Given the description of an element on the screen output the (x, y) to click on. 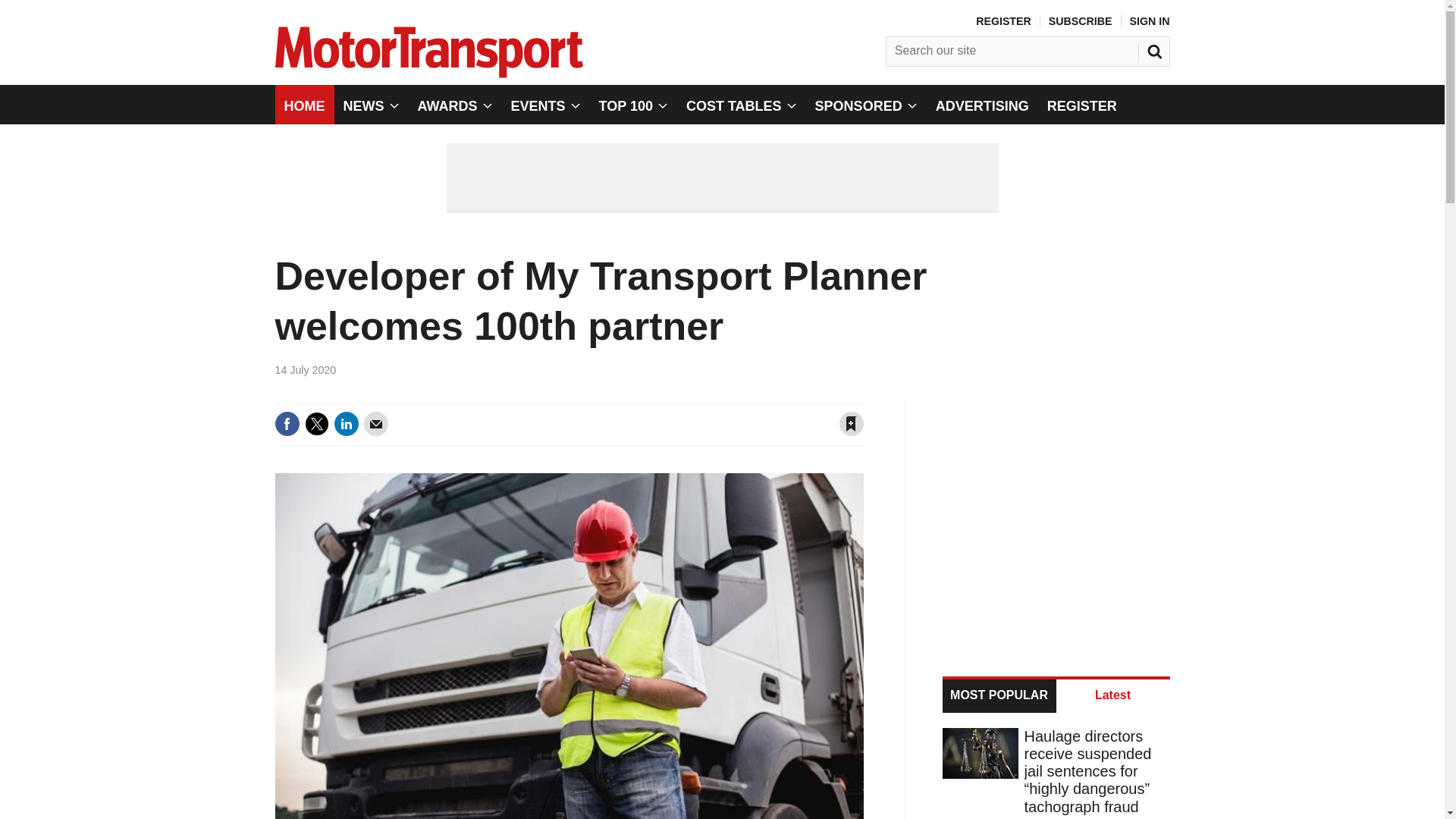
Share this on Linked in (345, 422)
3rd party ad content (1056, 520)
Site name (428, 73)
Share this on Twitter (316, 422)
Share this on Facebook (286, 422)
3rd party ad content (721, 177)
SIGN IN (1149, 21)
Email this article (376, 422)
SUBSCRIBE (1080, 21)
REGISTER (1002, 21)
SEARCH (1156, 48)
